Given the description of an element on the screen output the (x, y) to click on. 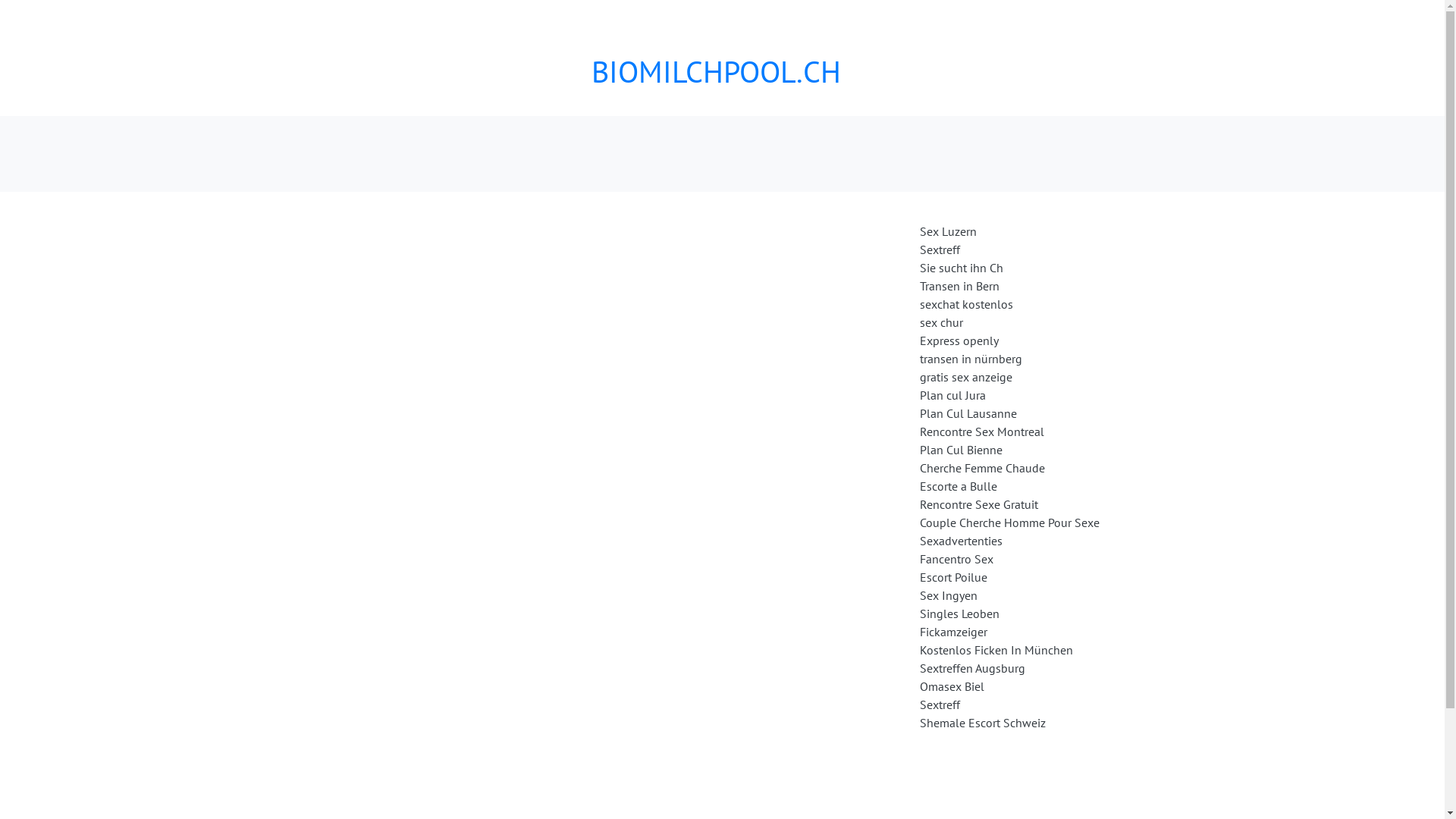
Sextreff Element type: text (939, 704)
BIOMILCHPOOL.CH Element type: text (715, 71)
Rencontre Sexe Gratuit Element type: text (978, 503)
Escorte a Bulle Element type: text (957, 485)
Cherche Femme Chaude Element type: text (981, 467)
Express openly Element type: text (958, 340)
Rencontre Sex Montreal Element type: text (981, 431)
Plan Cul Bienne Element type: text (960, 449)
Transen in Bern Element type: text (958, 285)
Sexadvertenties Element type: text (960, 540)
Shemale Escort Schweiz Element type: text (981, 722)
Sextreffen Augsburg Element type: text (971, 667)
Sie sucht ihn Ch Element type: text (960, 267)
sex chur Element type: text (940, 321)
Singles Leoben Element type: text (958, 613)
Omasex Biel Element type: text (951, 685)
Plan cul Jura Element type: text (952, 394)
Plan Cul Lausanne Element type: text (967, 412)
Fancentro Sex Element type: text (955, 558)
Fickamzeiger Element type: text (952, 631)
sexchat kostenlos Element type: text (965, 303)
Escort Poilue Element type: text (952, 576)
Sex Luzern Element type: text (947, 230)
Sextreff Element type: text (939, 249)
Sex Ingyen Element type: text (947, 594)
Couple Cherche Homme Pour Sexe Element type: text (1008, 522)
gratis sex anzeige Element type: text (965, 376)
